Given the description of an element on the screen output the (x, y) to click on. 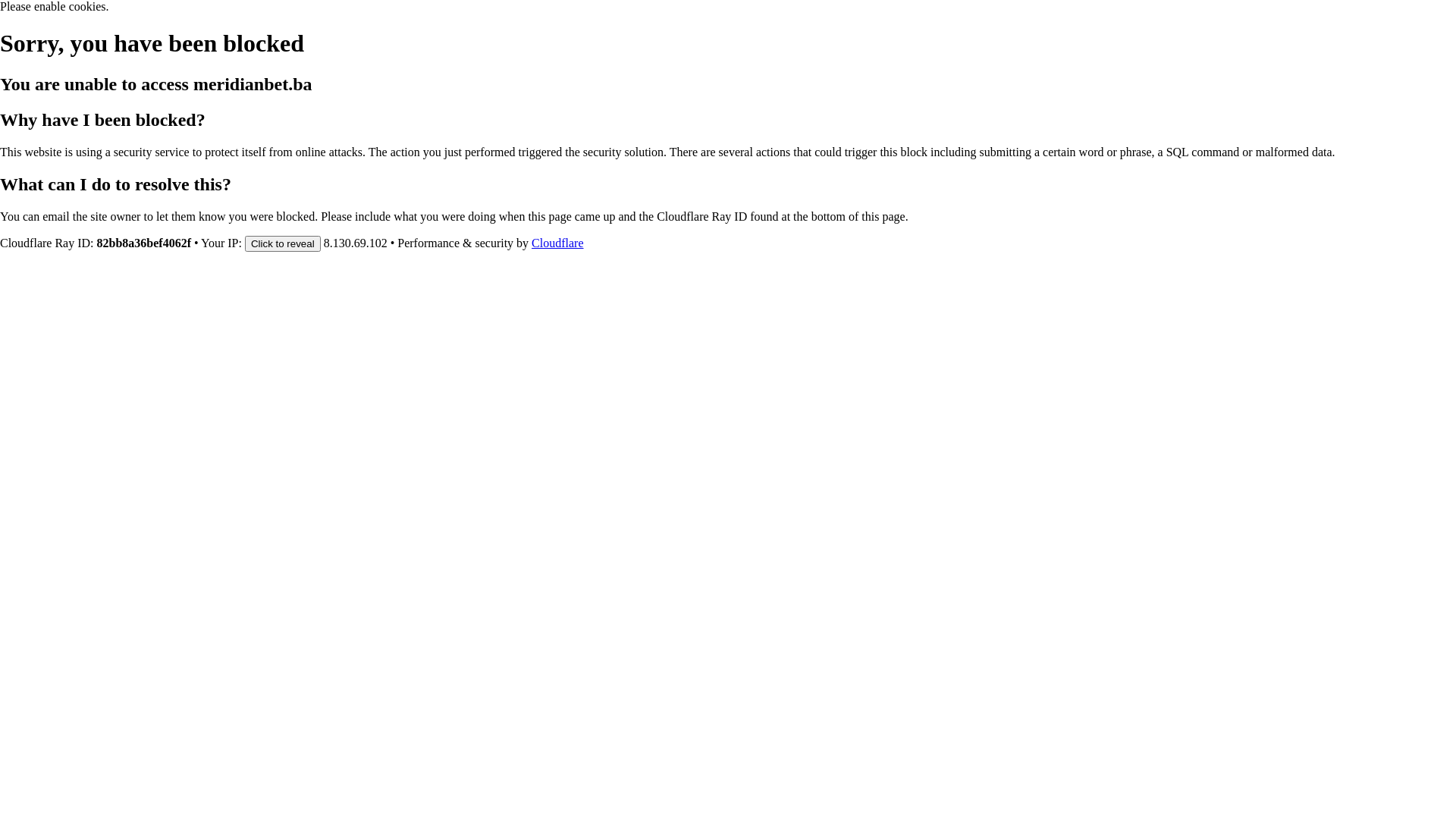
Cloudflare Element type: text (557, 242)
Click to reveal Element type: text (282, 243)
